Given the description of an element on the screen output the (x, y) to click on. 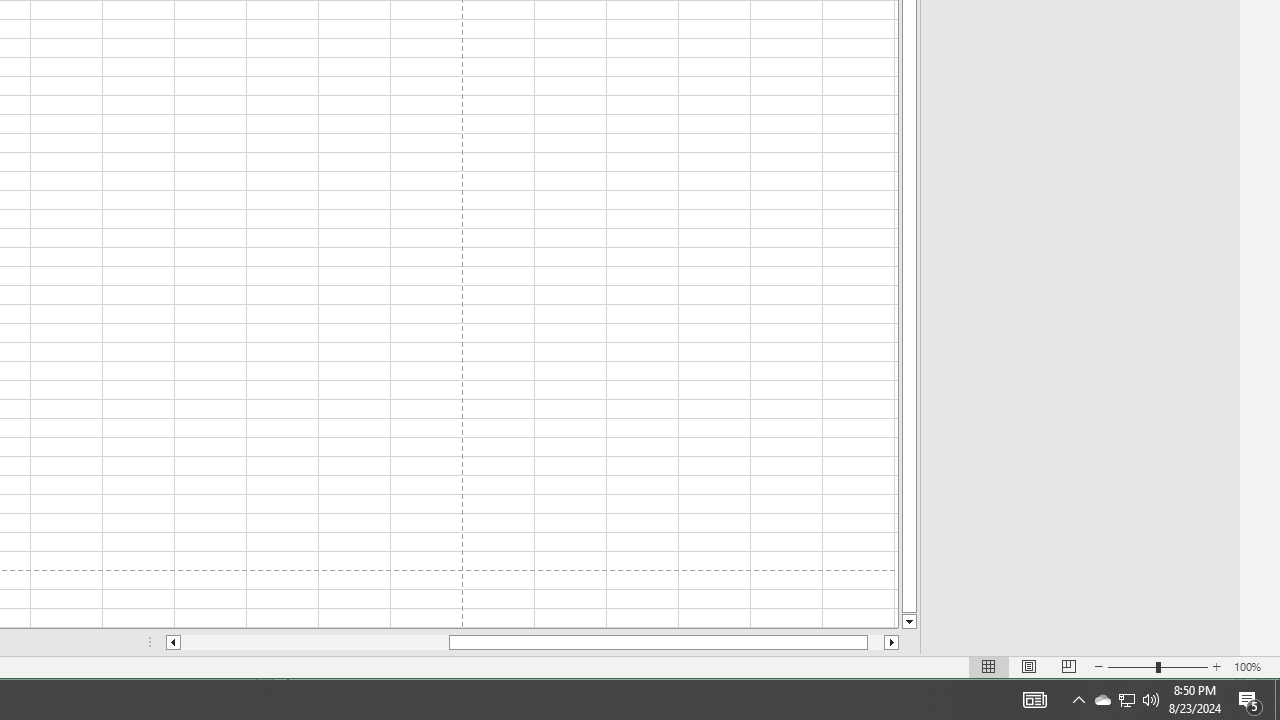
Action Center, 5 new notifications (1126, 699)
